Given the description of an element on the screen output the (x, y) to click on. 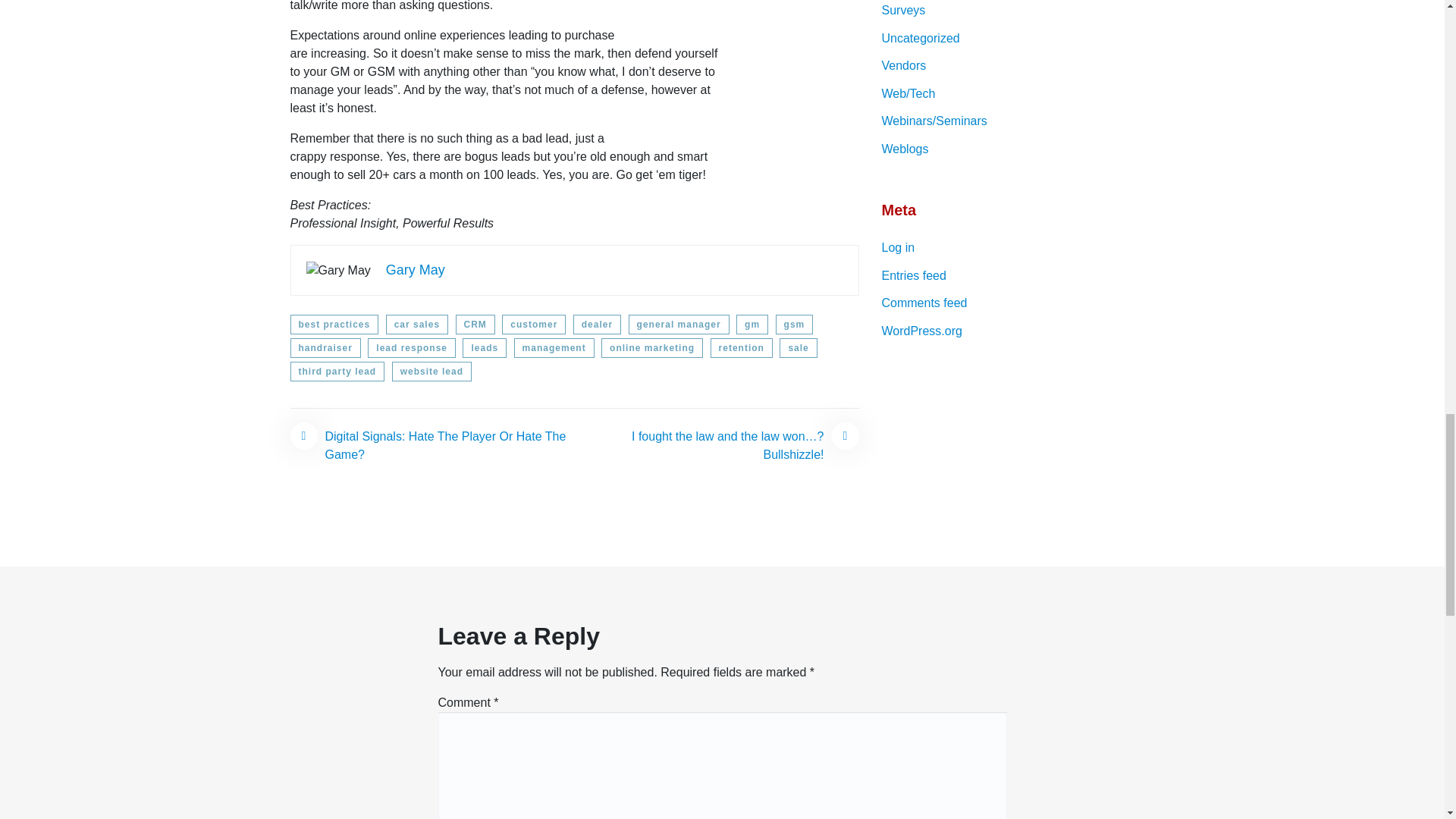
third party lead (336, 371)
Gary May (415, 269)
car sales (416, 324)
dealer (597, 324)
leads (484, 347)
management (553, 347)
gsm (794, 324)
sale (797, 347)
CRM (475, 324)
website lead (431, 371)
